Given the description of an element on the screen output the (x, y) to click on. 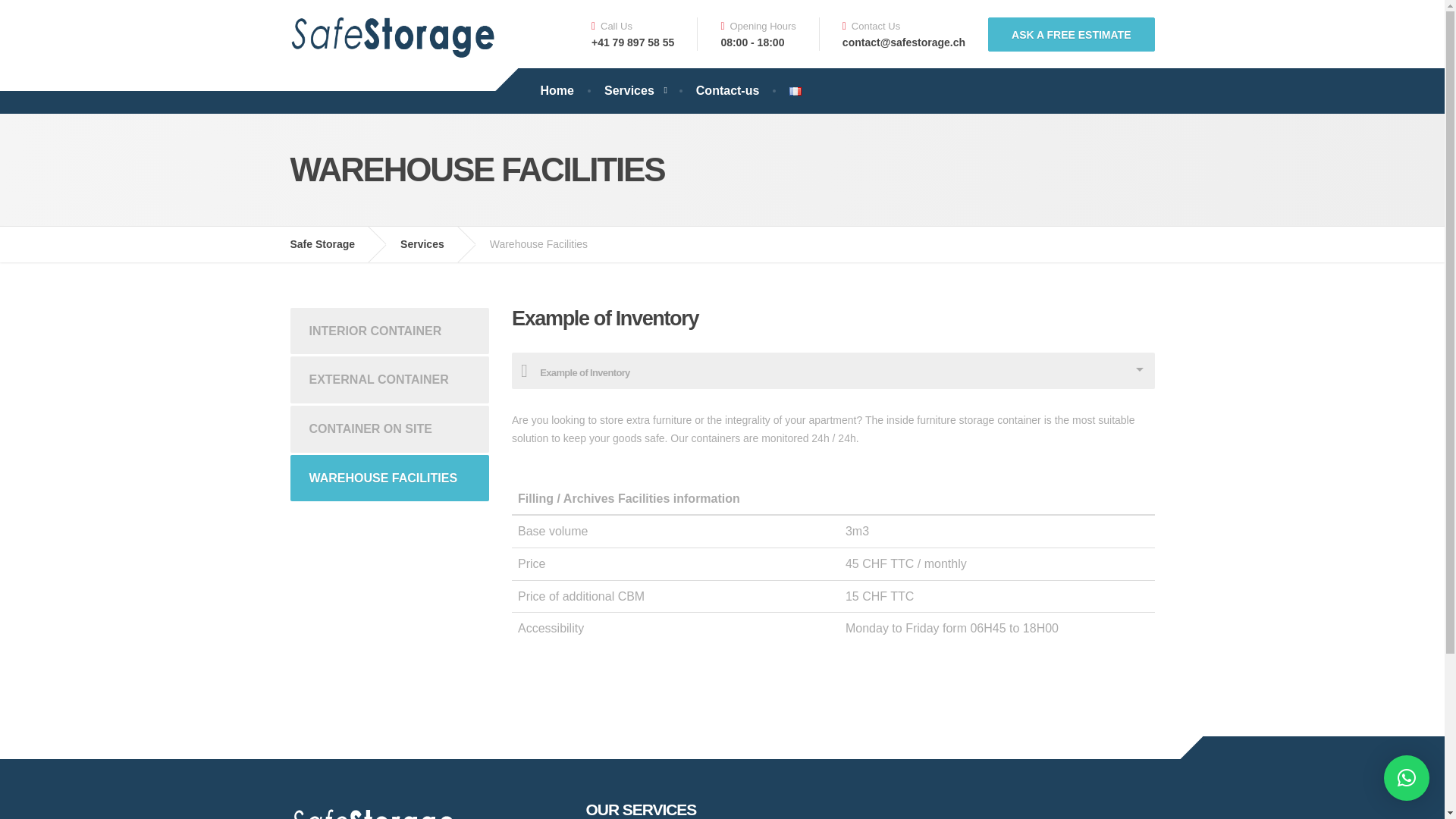
Go to Services. (433, 243)
Example of Inventory (833, 370)
EXTERNAL CONTAINER (389, 379)
Safe Storage (333, 243)
Services (635, 90)
ASK A FREE ESTIMATE (1071, 33)
Go to Safe Storage. (333, 243)
Contact-us (727, 90)
INTERIOR CONTAINER (389, 330)
CONTAINER ON SITE (389, 428)
